Given the description of an element on the screen output the (x, y) to click on. 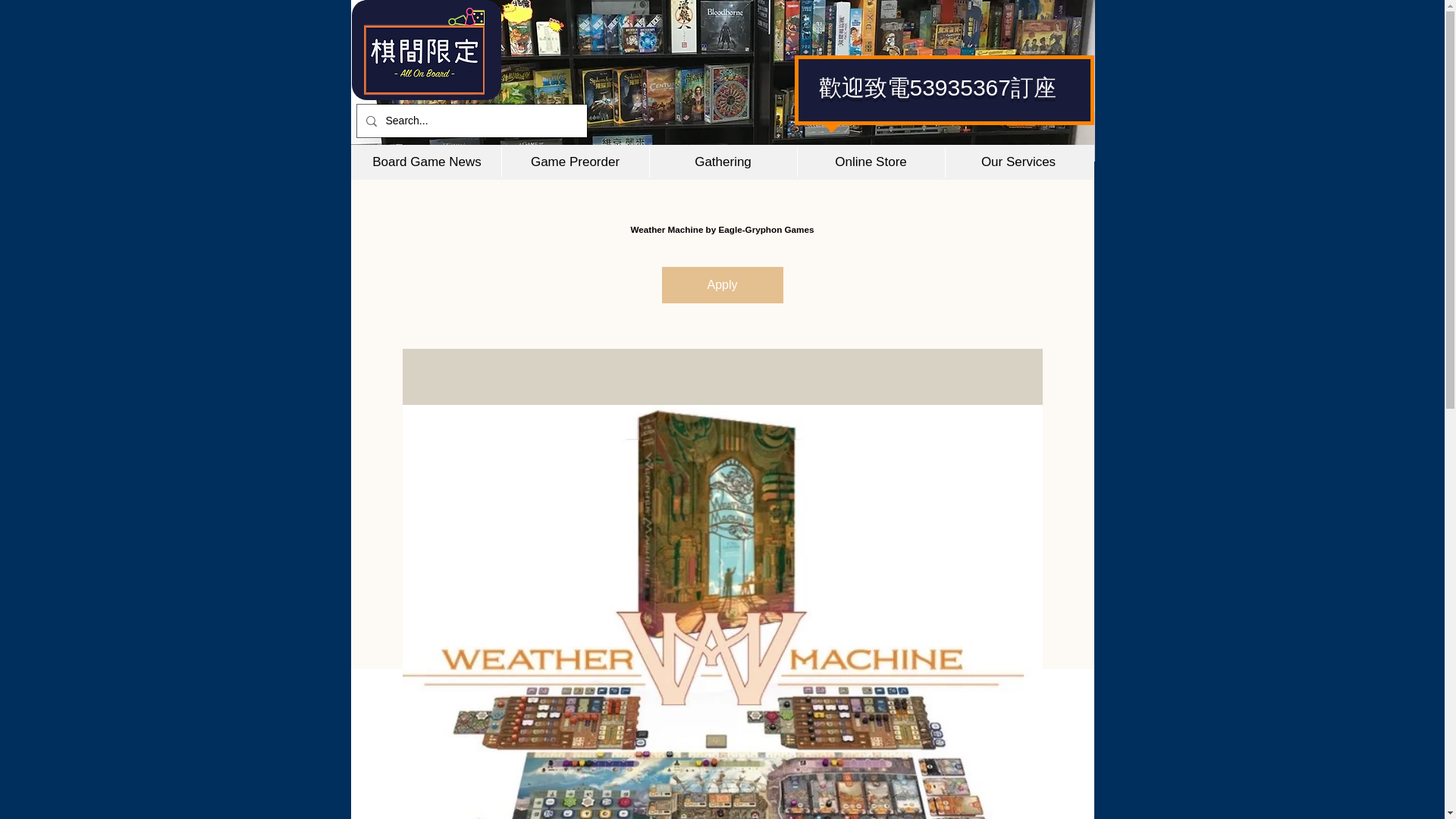
Game Preorder (573, 162)
Gathering (722, 162)
Board Game News (426, 162)
Apply (722, 284)
Online Store (869, 162)
